Given the description of an element on the screen output the (x, y) to click on. 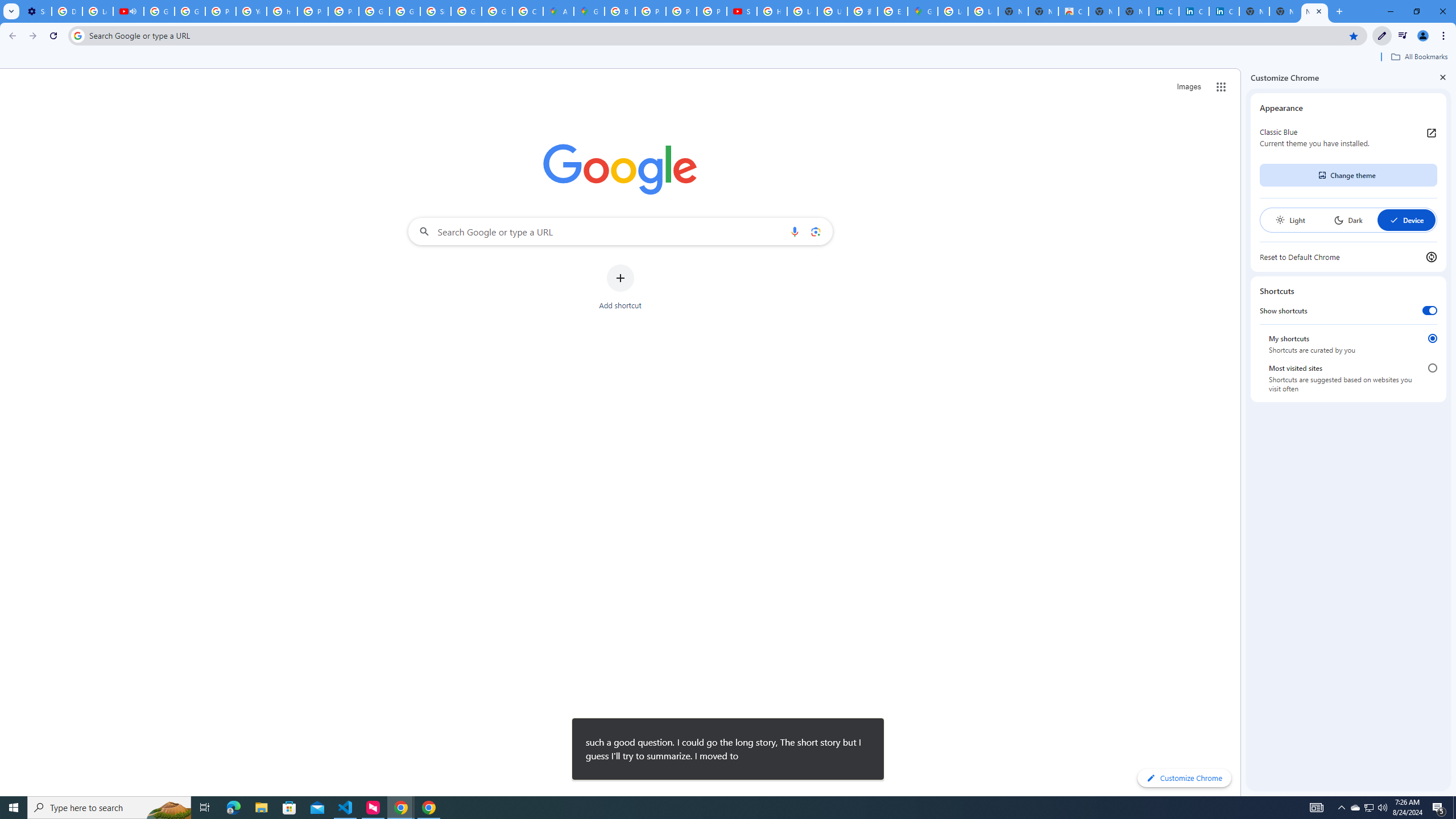
Cookie Policy | LinkedIn (1163, 11)
New Tab (1314, 11)
Chrome Web Store (1072, 11)
Search by image (816, 230)
All Bookmarks (1418, 56)
Copyright Policy (1224, 11)
Google Account Help (189, 11)
Most visited sites (1432, 367)
https://scholar.google.com/ (282, 11)
Bookmarks (728, 58)
